Given the description of an element on the screen output the (x, y) to click on. 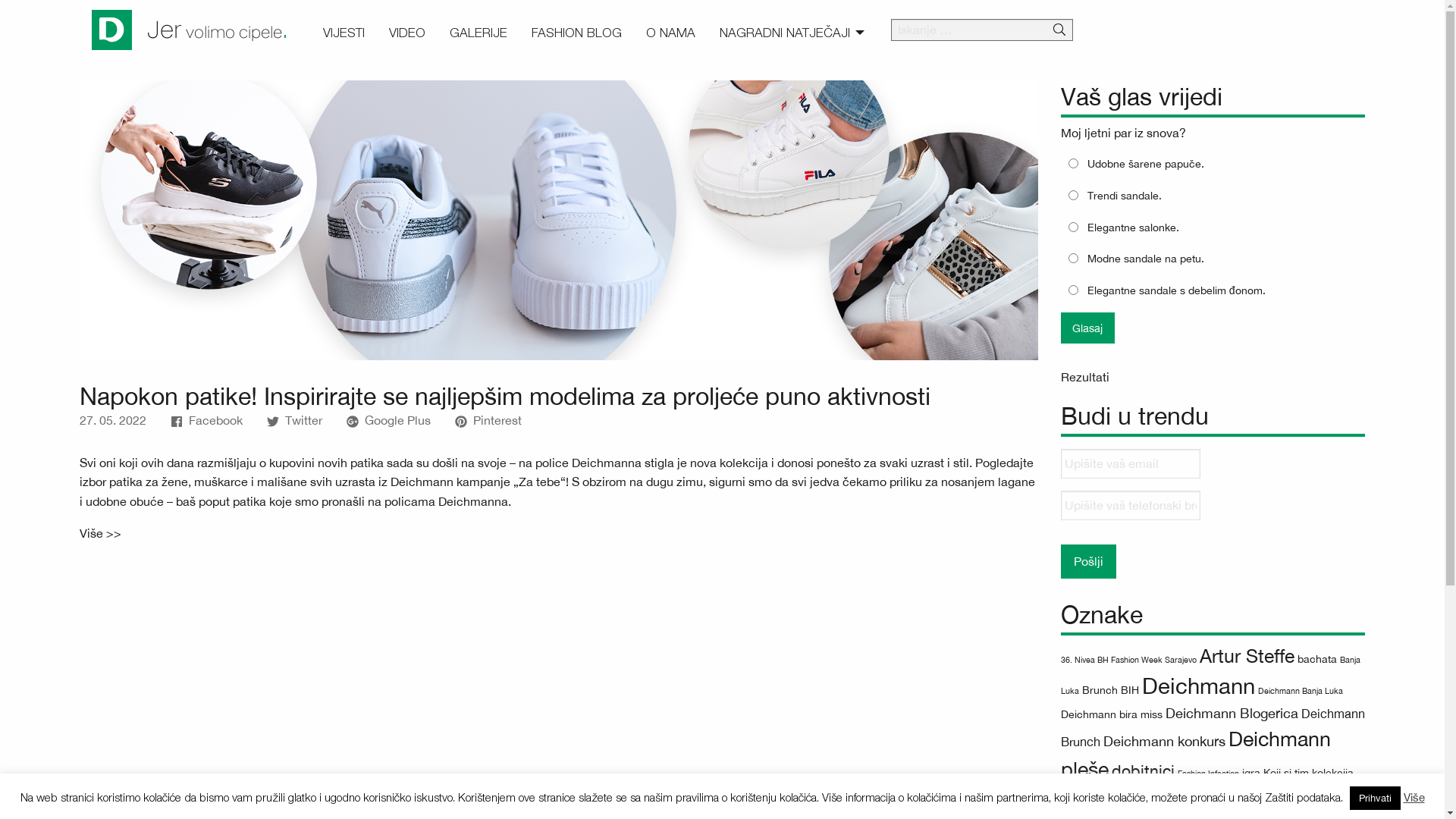
FASHION BLOG Element type: text (576, 32)
Twitter Element type: text (294, 420)
O NAMA Element type: text (670, 32)
Miss BIH Element type: text (1248, 800)
Deichmann Banja Luka Element type: text (1300, 690)
Glasaj Element type: text (1087, 327)
Artur Steffe Element type: text (1246, 655)
Rezultati Element type: text (1084, 376)
Fashion Infection Element type: text (1208, 773)
konkurs Element type: text (1186, 798)
VIJESTI Element type: text (343, 32)
Facebook Element type: text (206, 420)
Deichmann Blogerica Element type: text (1231, 713)
Jer volimo cipele. Element type: text (217, 29)
igra Element type: text (1251, 772)
dobitnici Element type: text (1142, 770)
Koji si tim Element type: text (1285, 772)
Prihvati Element type: text (1374, 797)
Deichmann bira miss Element type: text (1111, 714)
bachata Element type: text (1316, 658)
Deichmann Element type: text (1198, 685)
VIDEO Element type: text (406, 32)
36. Nivea BH Fashion Week Sarajevo Element type: text (1128, 659)
Pinterest Element type: text (488, 420)
Deichmann konkurs Element type: text (1164, 741)
GALERIJE Element type: text (478, 32)
Brunch BIH Element type: text (1110, 690)
Banja Luka Element type: text (1210, 675)
Google Plus Element type: text (388, 420)
Deichmann Brunch Element type: text (1212, 727)
